Given the description of an element on the screen output the (x, y) to click on. 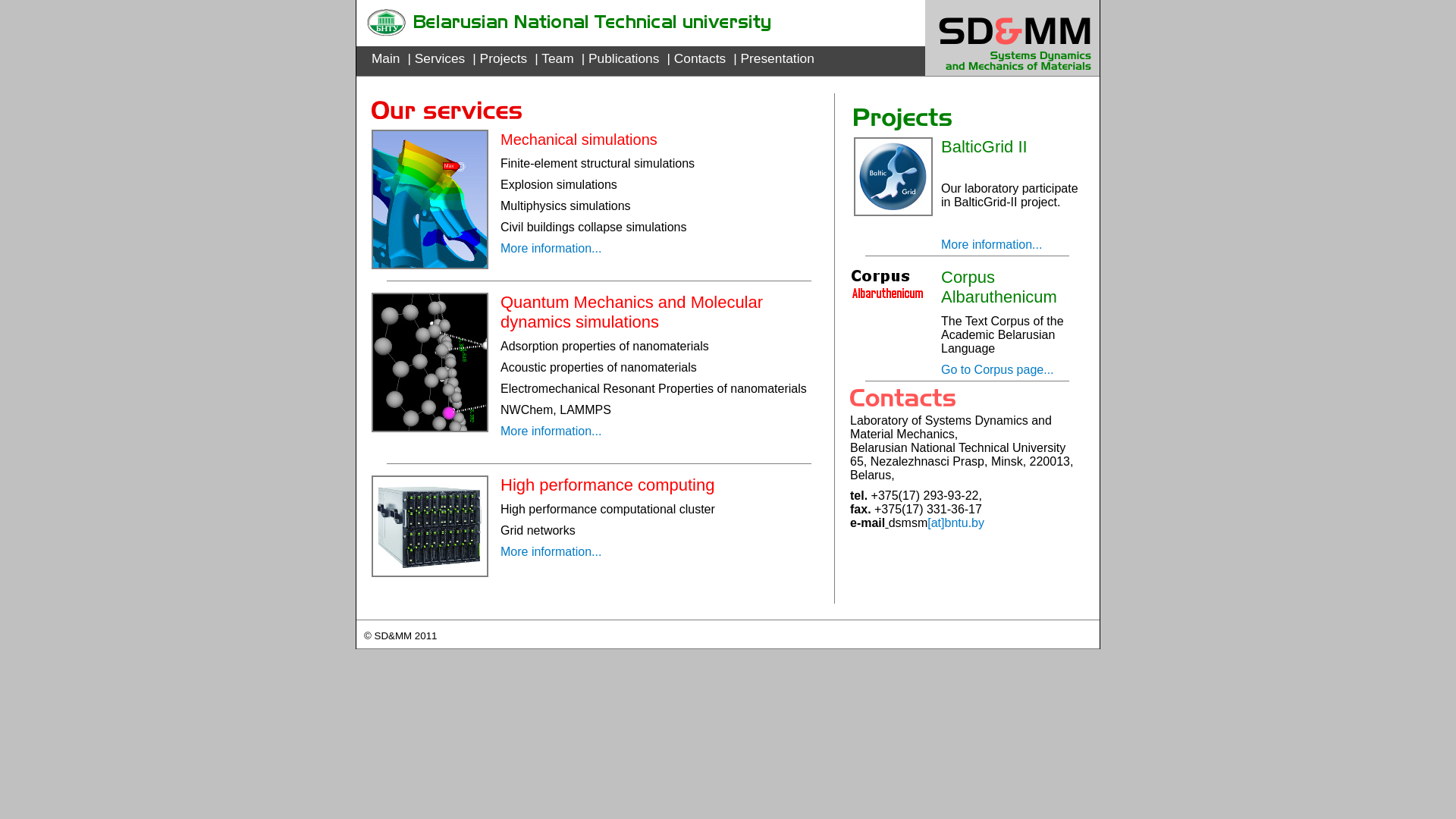
Presentation Element type: text (776, 57)
More information... Element type: text (550, 247)
Publications Element type: text (623, 57)
Services Element type: text (439, 57)
Team Element type: text (557, 57)
More information... Element type: text (550, 430)
Go to Corpus page... Element type: text (997, 369)
Main Element type: text (385, 57)
More information... Element type: text (991, 244)
[at]bntu.by Element type: text (955, 522)
Contacts Element type: text (699, 57)
Projects Element type: text (503, 57)
More information... Element type: text (550, 551)
